Given the description of an element on the screen output the (x, y) to click on. 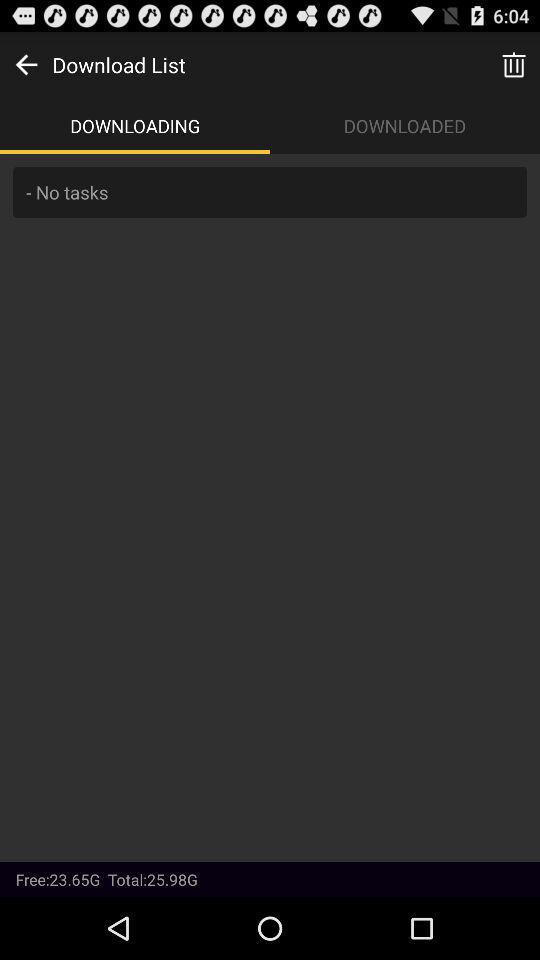
downloading items screen (270, 507)
